Given the description of an element on the screen output the (x, y) to click on. 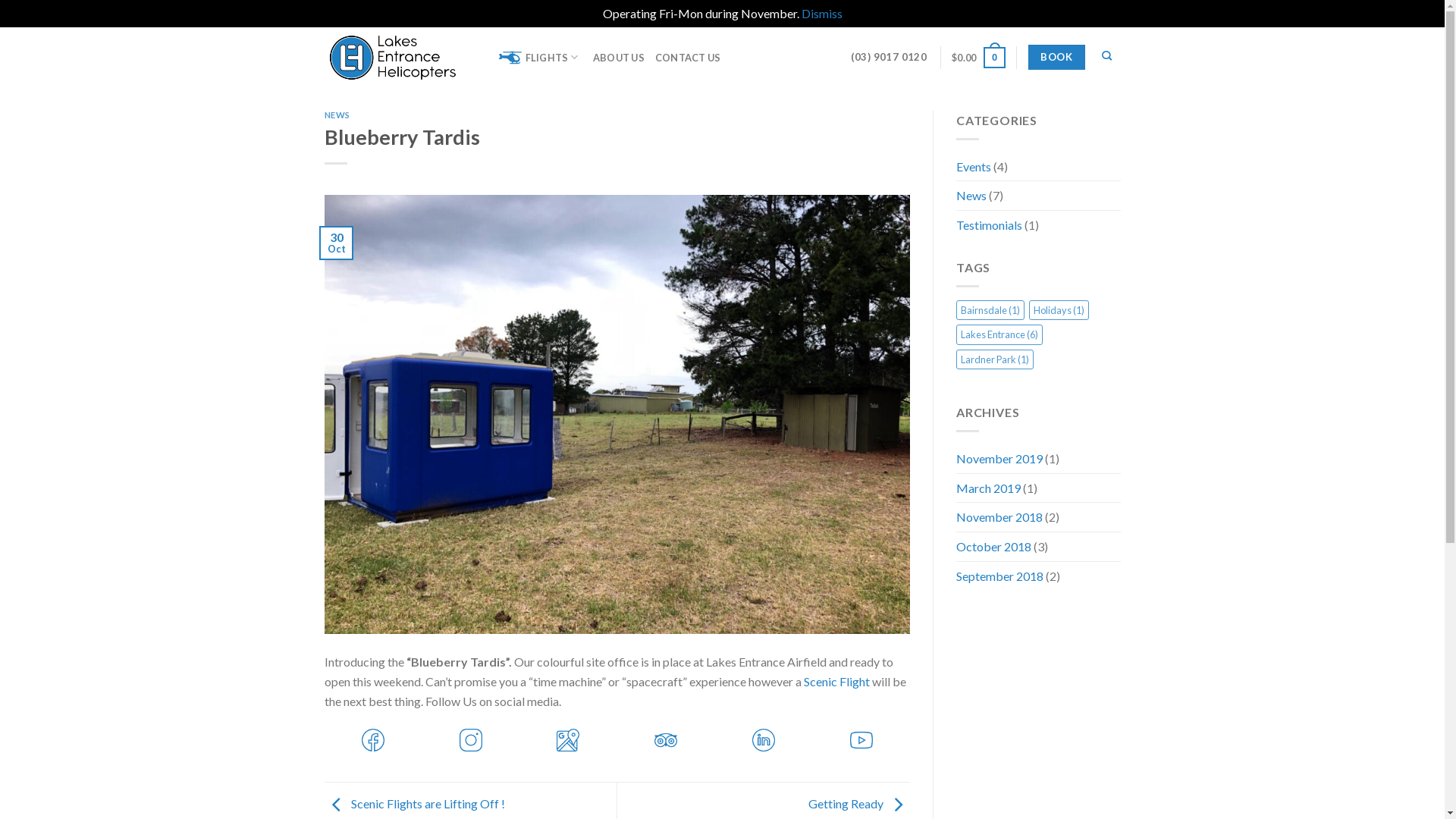
Testimonials Element type: text (989, 224)
ABOUT US Element type: text (618, 57)
CONTACT US Element type: text (688, 57)
Getting Ready Element type: text (859, 804)
Bairnsdale (1) Element type: text (990, 310)
YouTube Element type: hover (861, 738)
Tripadvisor Element type: hover (666, 738)
Google Element type: hover (568, 738)
Lakes Entrance (6) Element type: text (999, 334)
September 2018 Element type: text (999, 575)
Instagram Element type: hover (470, 738)
Holidays (1) Element type: text (1058, 310)
News Element type: text (971, 195)
Lardner Park (1) Element type: text (994, 359)
November 2019 Element type: text (999, 458)
October 2018 Element type: text (993, 546)
Scenic Flight Element type: text (836, 681)
Dismiss Element type: text (820, 13)
March 2019 Element type: text (988, 487)
$0.00
0 Element type: text (977, 57)
NEWS Element type: text (337, 114)
Facebook Element type: hover (373, 738)
Events Element type: text (973, 166)
BOOK Element type: text (1056, 57)
FLIGHTS Element type: text (540, 57)
(03) 9017 0120 Element type: text (888, 57)
Scenic Flights are Lifting Off ! Element type: text (414, 804)
LinkedIn Element type: hover (763, 738)
November 2018 Element type: text (999, 516)
